Given the description of an element on the screen output the (x, y) to click on. 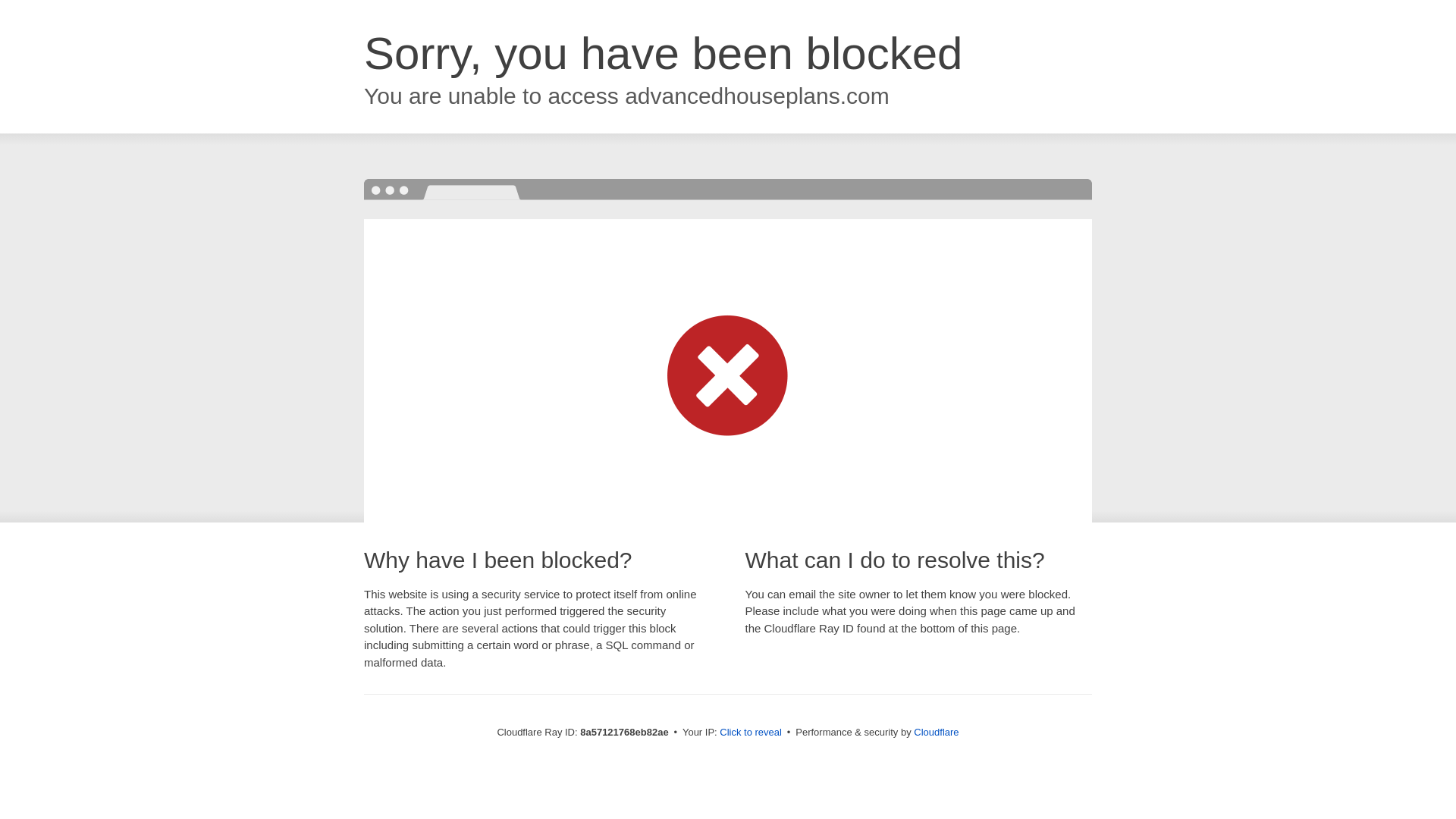
Cloudflare (936, 731)
Click to reveal (750, 732)
